Given the description of an element on the screen output the (x, y) to click on. 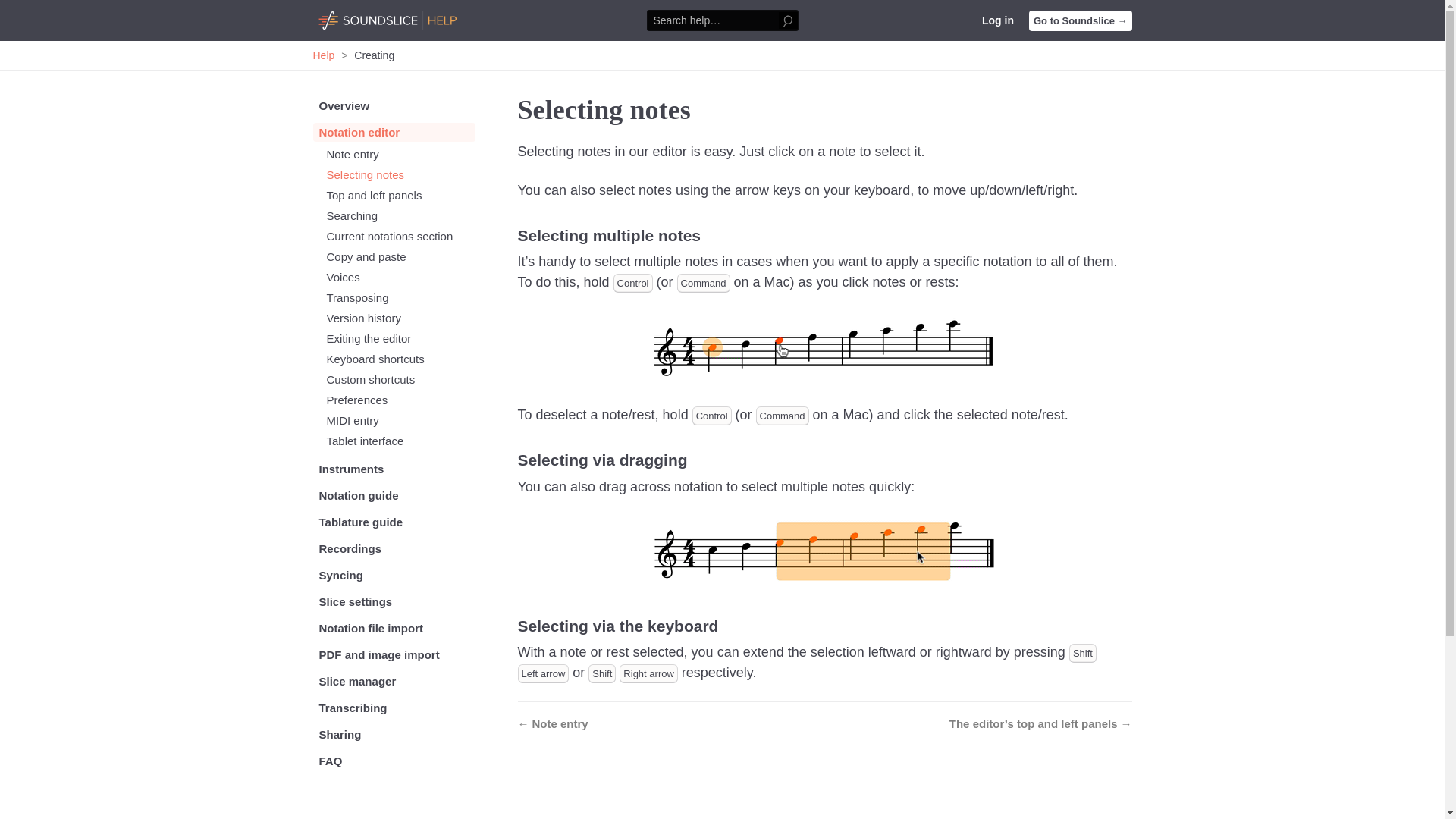
Version history (400, 318)
Overview (393, 105)
Searching (400, 215)
Top and left panels (400, 195)
Cancel (10, 10)
Voices (400, 277)
Transposing (400, 297)
MIDI entry (400, 420)
Keyboard shortcuts (400, 358)
Current notations section (400, 236)
Help (323, 55)
Selecting notes (400, 174)
Copy and paste (400, 256)
Custom shortcuts (400, 379)
Notation editor (393, 131)
